Given the description of an element on the screen output the (x, y) to click on. 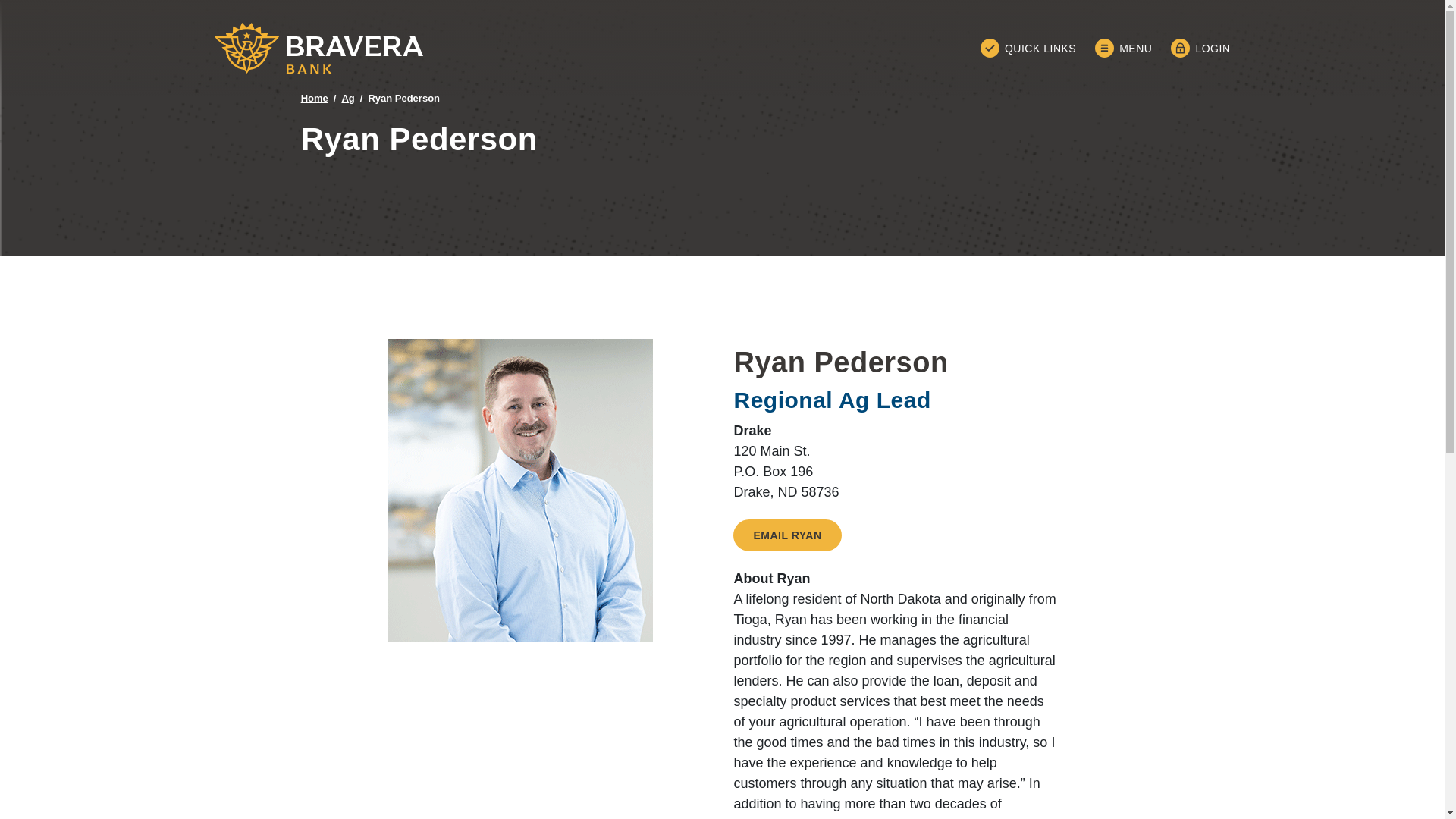
Bravera Bank, Bismarck, ND (318, 47)
LOGIN (1200, 47)
QUICK LINKS (1027, 47)
MENU (1122, 47)
